Given the description of an element on the screen output the (x, y) to click on. 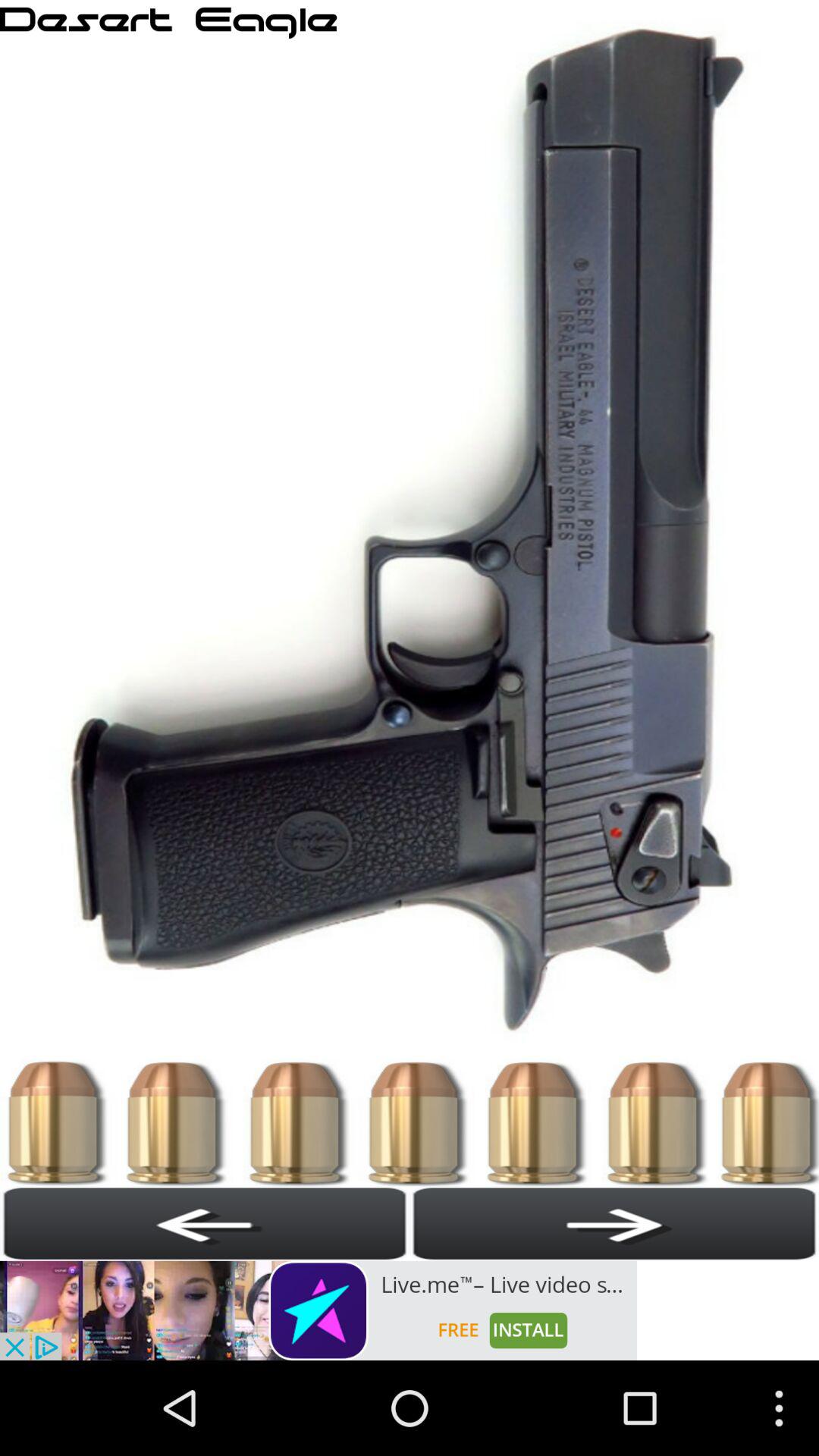
go forward (614, 1223)
